Given the description of an element on the screen output the (x, y) to click on. 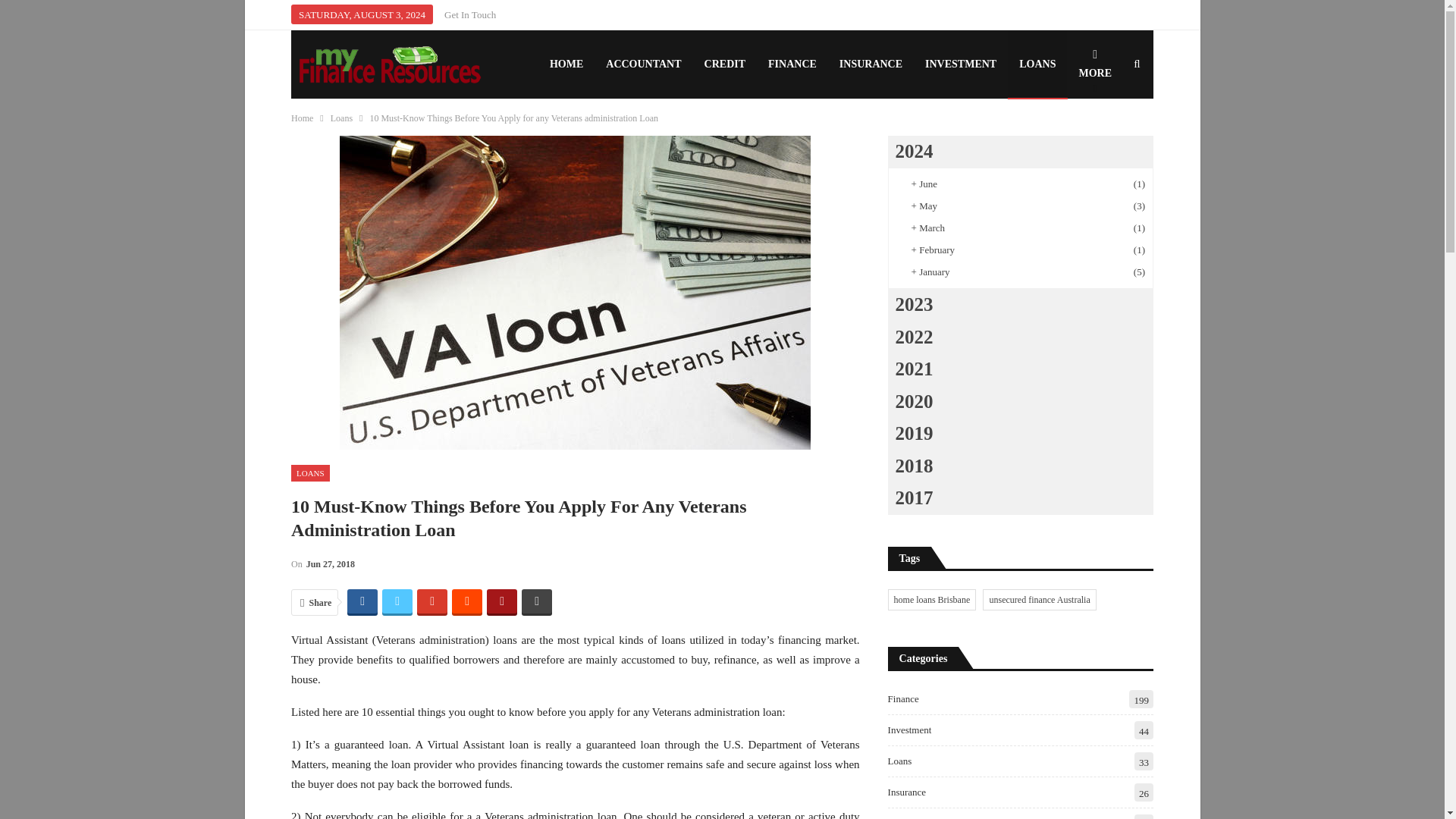
CREDIT (725, 64)
Loans (341, 117)
Home (302, 117)
ACCOUNTANT (643, 64)
Get In Touch (470, 14)
INSURANCE (871, 64)
INVESTMENT (960, 64)
FINANCE (792, 64)
LOANS (310, 472)
